Given the description of an element on the screen output the (x, y) to click on. 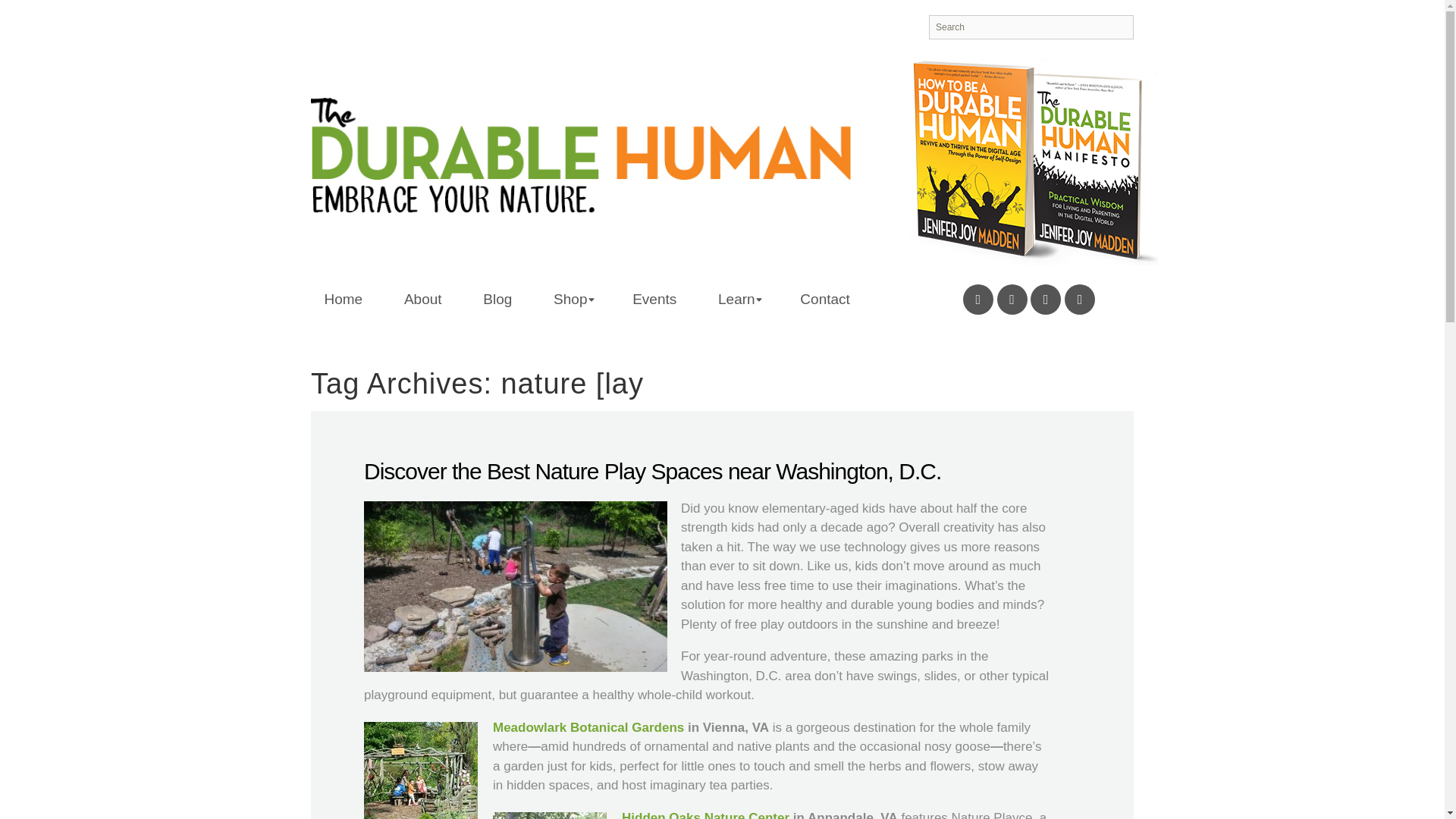
Learn (738, 291)
Search for: (1031, 27)
Hidden Oaks Nature Center (705, 814)
Search (36, 12)
Contact (824, 291)
About (422, 291)
Meadowlark Botanical Gardens (590, 727)
Blog (496, 291)
Home (343, 291)
Events (654, 291)
Shop (571, 291)
Discover the Best Nature Play Spaces near Washington, D.C. (652, 471)
